Given the description of an element on the screen output the (x, y) to click on. 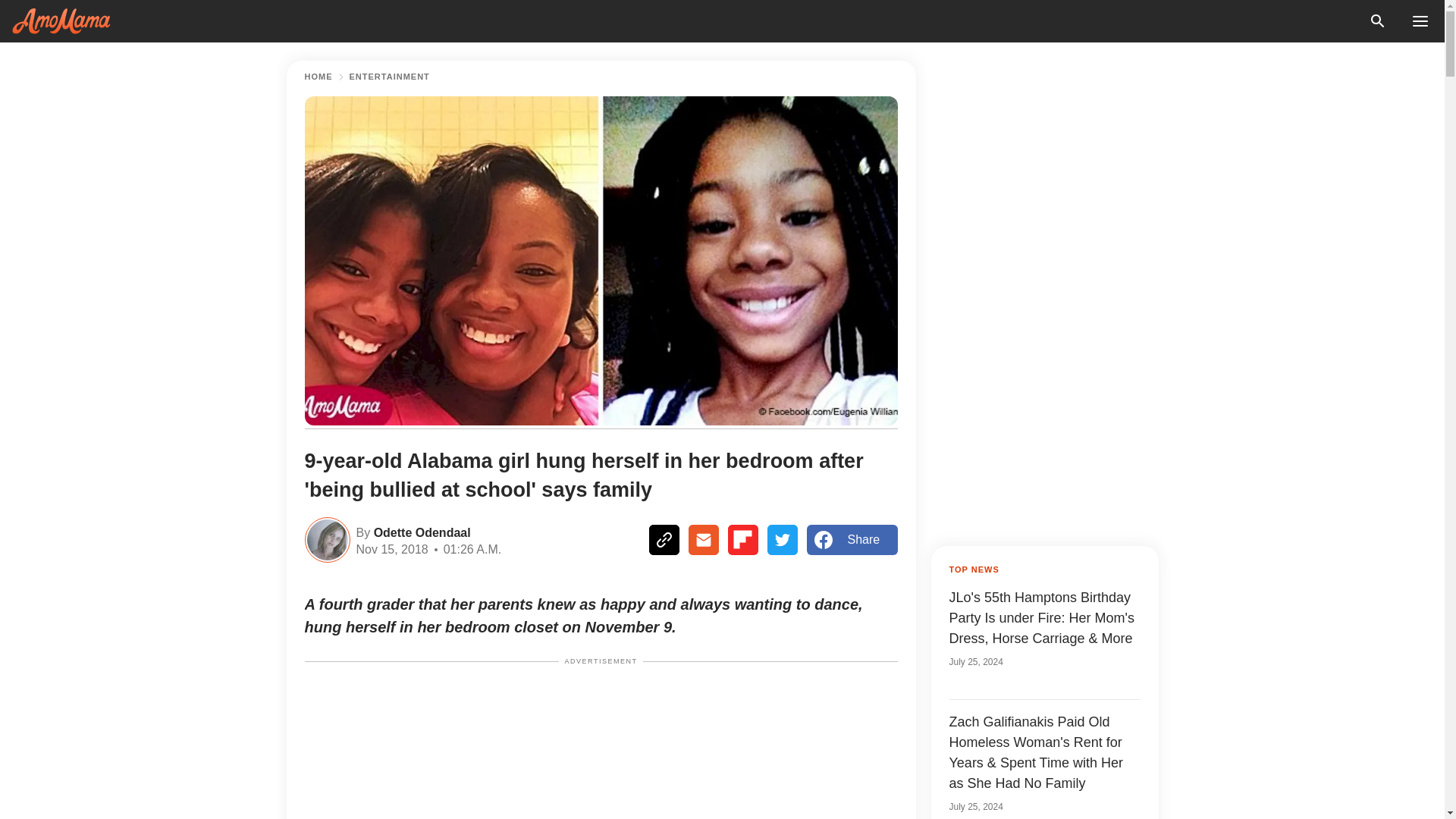
HOME (318, 76)
Odette Odendaal (419, 531)
ENTERTAINMENT (389, 76)
